Given the description of an element on the screen output the (x, y) to click on. 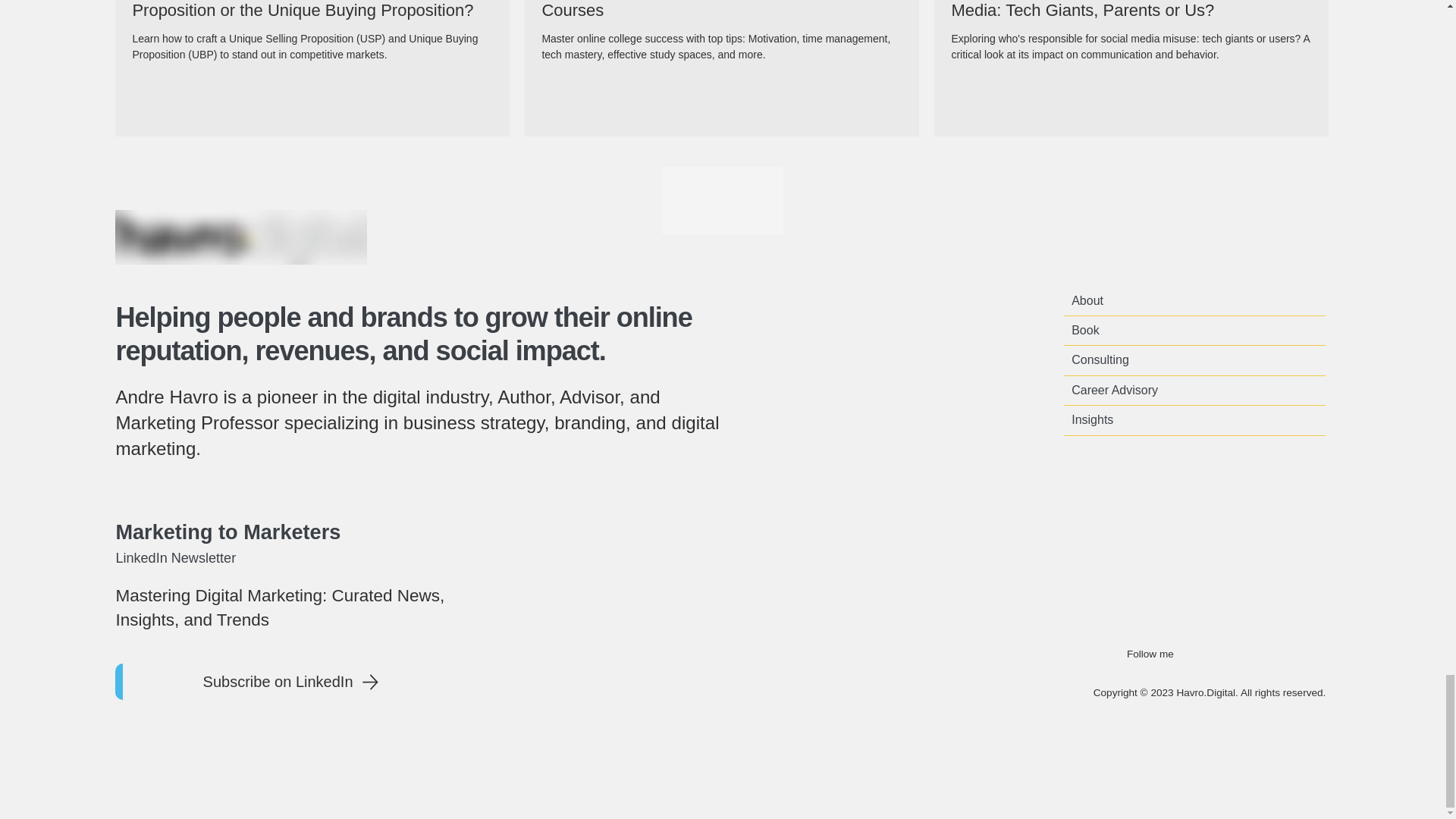
Book (1194, 330)
Consulting (1194, 359)
About (1194, 300)
Subscribe on LinkedIn (286, 681)
Career Advisory (1194, 389)
Insights (1194, 419)
How To Be Successful in Online College Courses (721, 11)
